Given the description of an element on the screen output the (x, y) to click on. 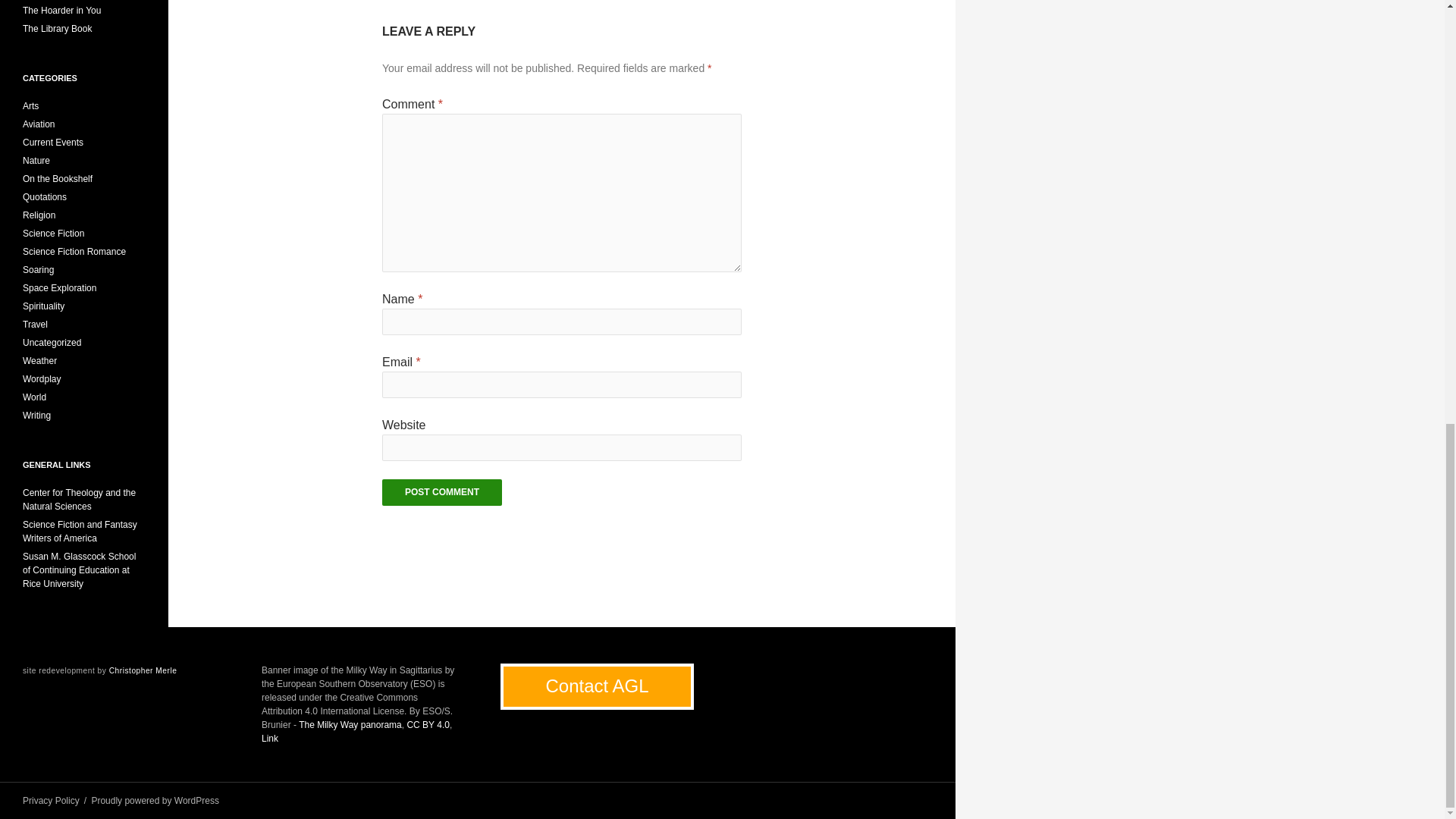
Creative Commons Attribution 4.0 (427, 724)
The Hoarder in You (61, 9)
Current Events (52, 142)
Arts (31, 105)
The Library Book (57, 28)
Post Comment (441, 492)
Post Comment (441, 492)
Aviation (39, 123)
